Given the description of an element on the screen output the (x, y) to click on. 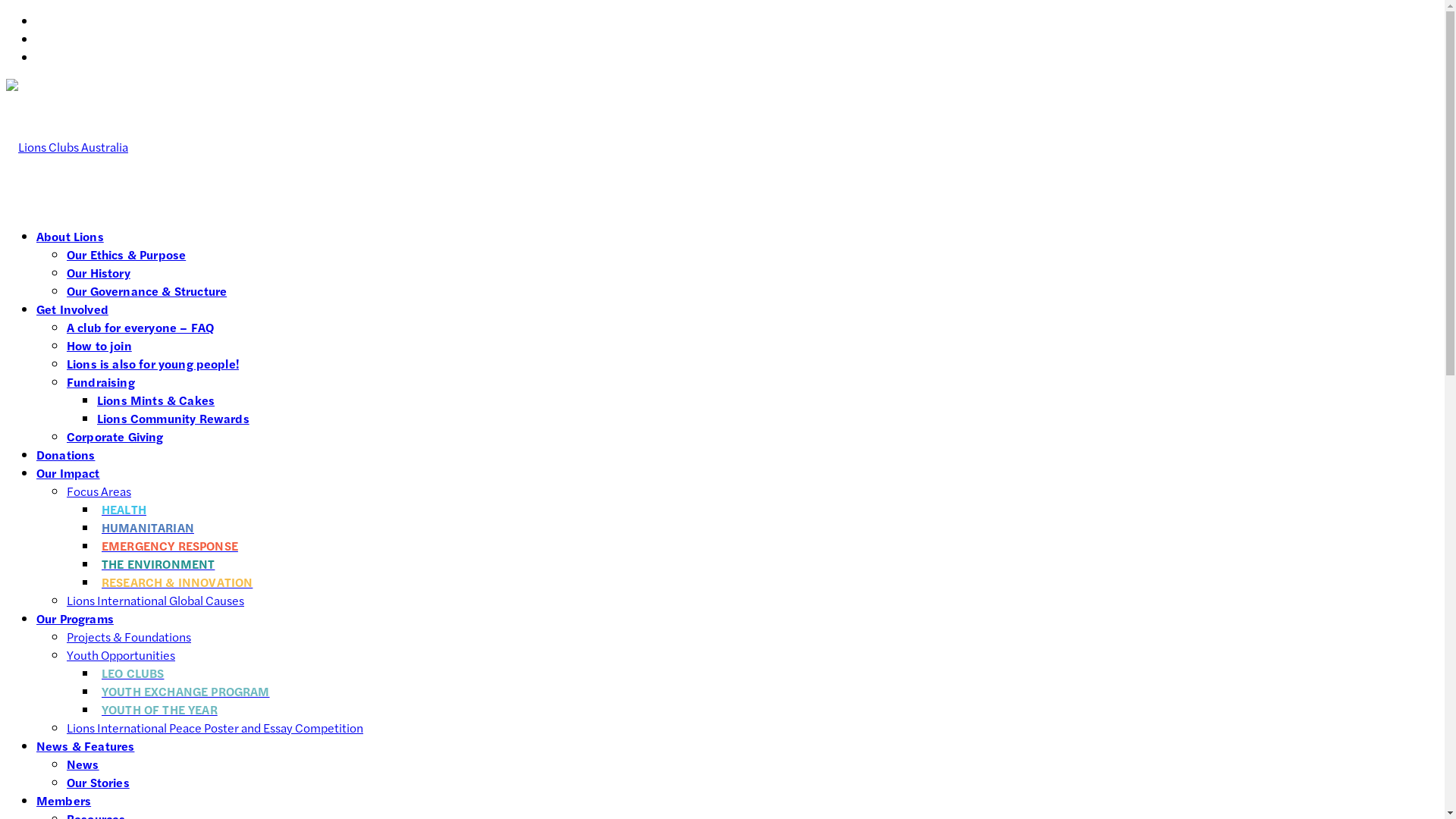
Our Governance & Structure Element type: text (146, 290)
Our Ethics & Purpose Element type: text (125, 254)
LEO CLUBS Element type: text (131, 673)
Facebook Element type: text (61, 20)
News Element type: text (82, 763)
Youth Opportunities Element type: text (120, 654)
Focus Areas Element type: text (98, 490)
How to join Element type: text (98, 345)
Twitter Element type: text (55, 38)
RESEARCH & INNOVATION Element type: text (175, 582)
Get Involved Element type: text (72, 308)
Lions Community Rewards Element type: text (173, 417)
Lions is also for young people! Element type: text (152, 363)
Members Element type: text (63, 800)
THE ENVIRONMENT Element type: text (156, 564)
Corporate Giving Element type: text (114, 436)
Youtube Element type: text (58, 56)
News & Features Element type: text (85, 745)
HUMANITARIAN Element type: text (146, 527)
Our History Element type: text (98, 272)
Our Impact Element type: text (68, 472)
YOUTH EXCHANGE PROGRAM Element type: text (184, 691)
Projects & Foundations Element type: text (128, 636)
About Lions Element type: text (69, 235)
Lions International Global Causes Element type: text (155, 599)
Lions International Peace Poster and Essay Competition Element type: text (214, 727)
Lions Mints & Cakes Element type: text (155, 399)
Our Programs Element type: text (74, 618)
Fundraising Element type: text (100, 381)
EMERGENCY RESPONSE Element type: text (168, 546)
Our Stories Element type: text (97, 781)
YOUTH OF THE YEAR Element type: text (158, 709)
HEALTH Element type: text (122, 509)
Donations Element type: text (65, 454)
